Given the description of an element on the screen output the (x, y) to click on. 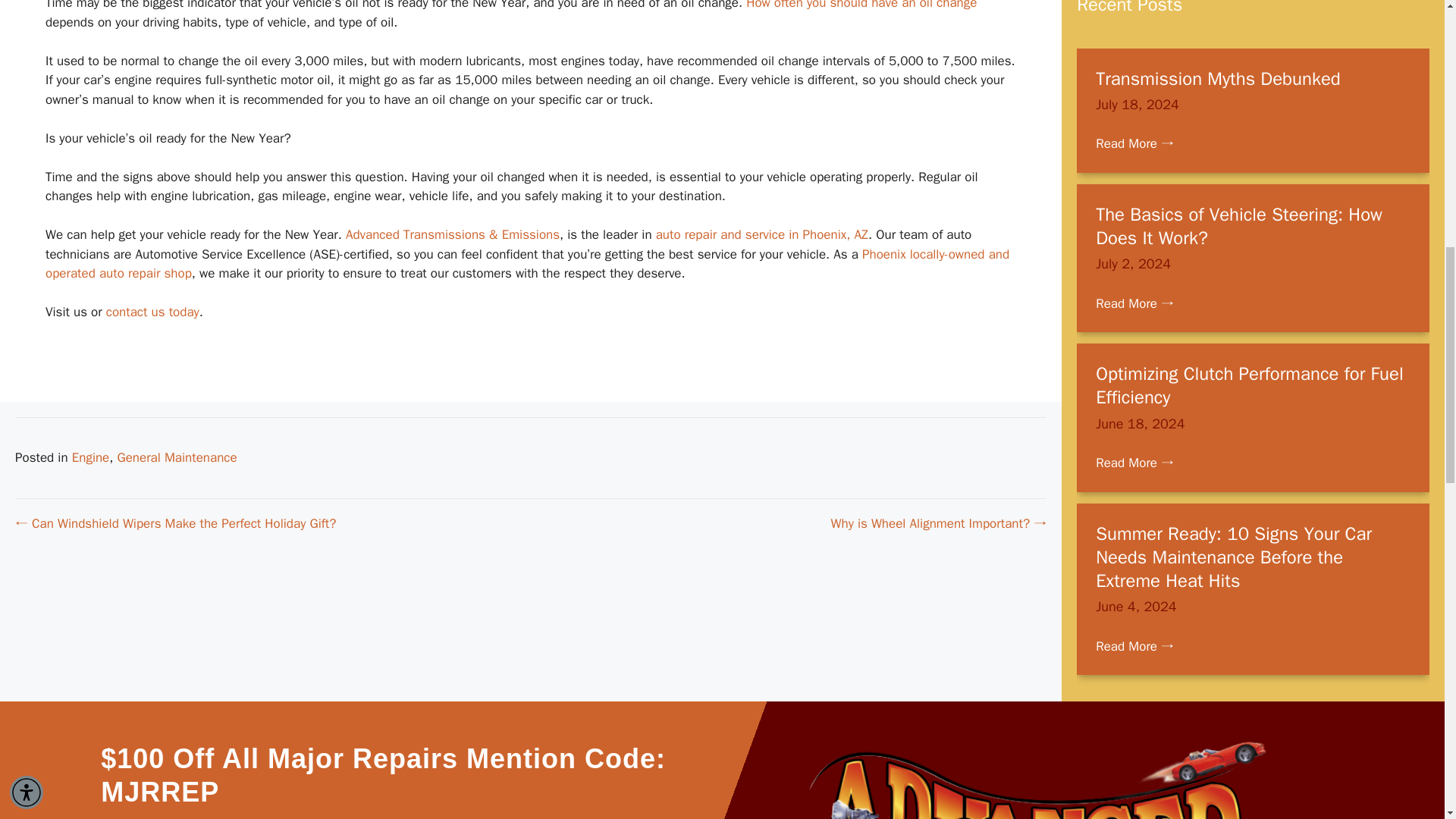
contact us today (152, 311)
General Maintenance (175, 457)
Engine (90, 457)
Phoenix locally-owned and operated auto repair shop (527, 263)
How often you should have an oil change (860, 5)
auto repair and service in Phoenix, AZ (761, 234)
